Given the description of an element on the screen output the (x, y) to click on. 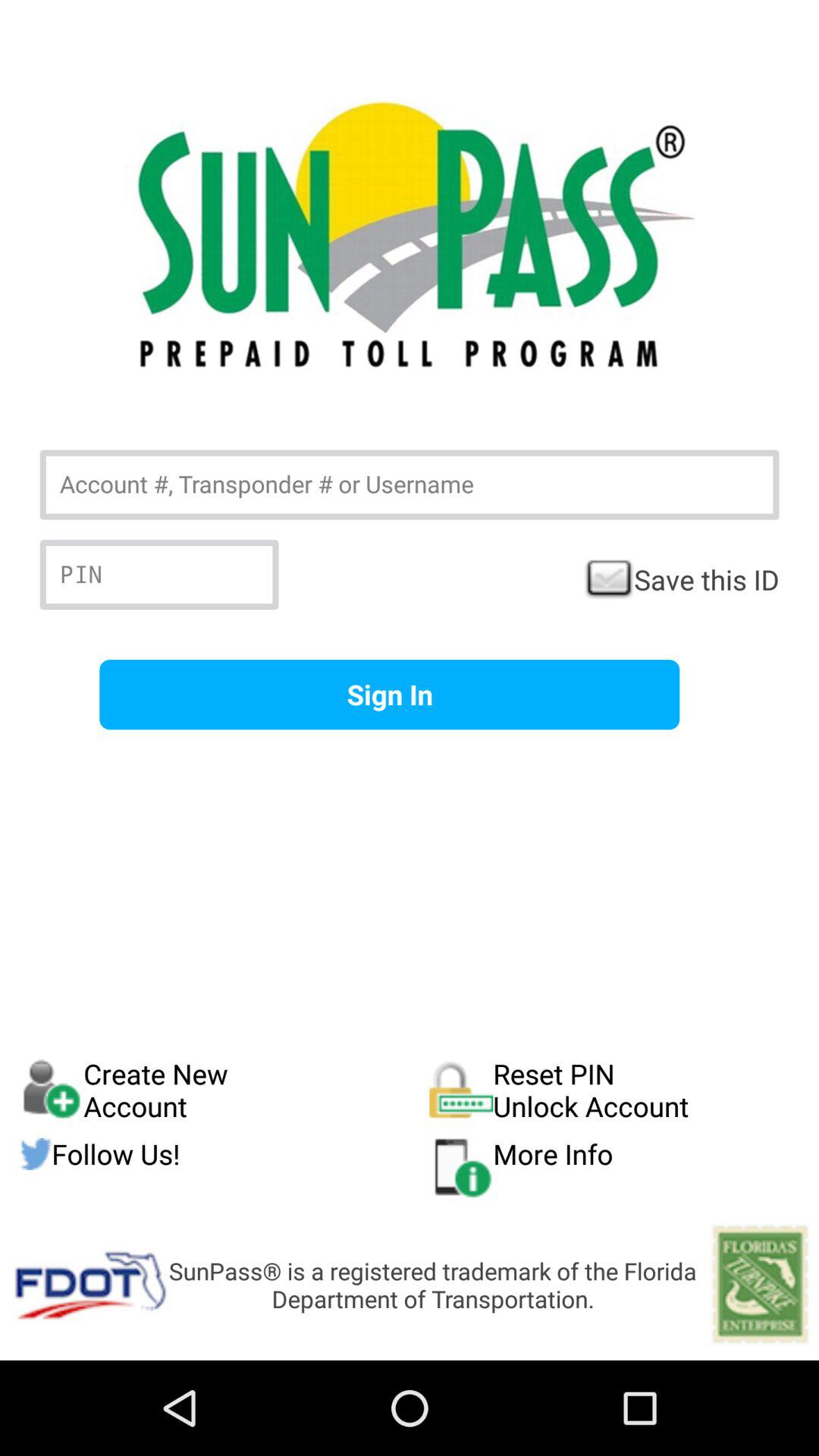
swipe until the save this id checkbox (681, 579)
